Given the description of an element on the screen output the (x, y) to click on. 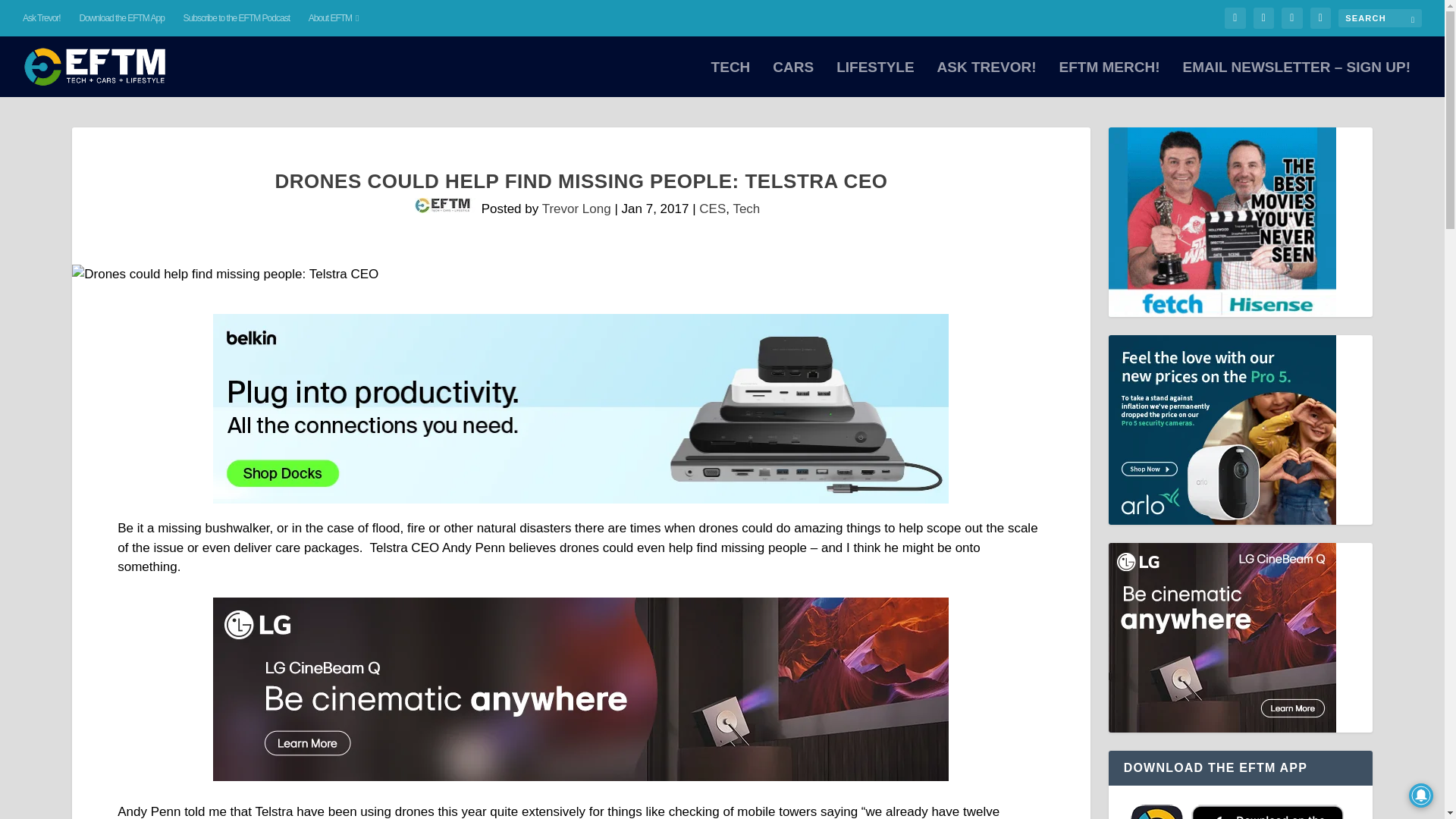
CARS (793, 79)
Posts by Trevor Long (576, 208)
TECH (731, 79)
Download the EFTM App (120, 18)
LIFESTYLE (874, 79)
Search for: (1380, 18)
Subscribe to the EFTM Podcast (236, 18)
EFTM MERCH! (1108, 79)
ASK TREVOR! (986, 79)
Ask Trevor! (42, 18)
About EFTM (333, 18)
